Given the description of an element on the screen output the (x, y) to click on. 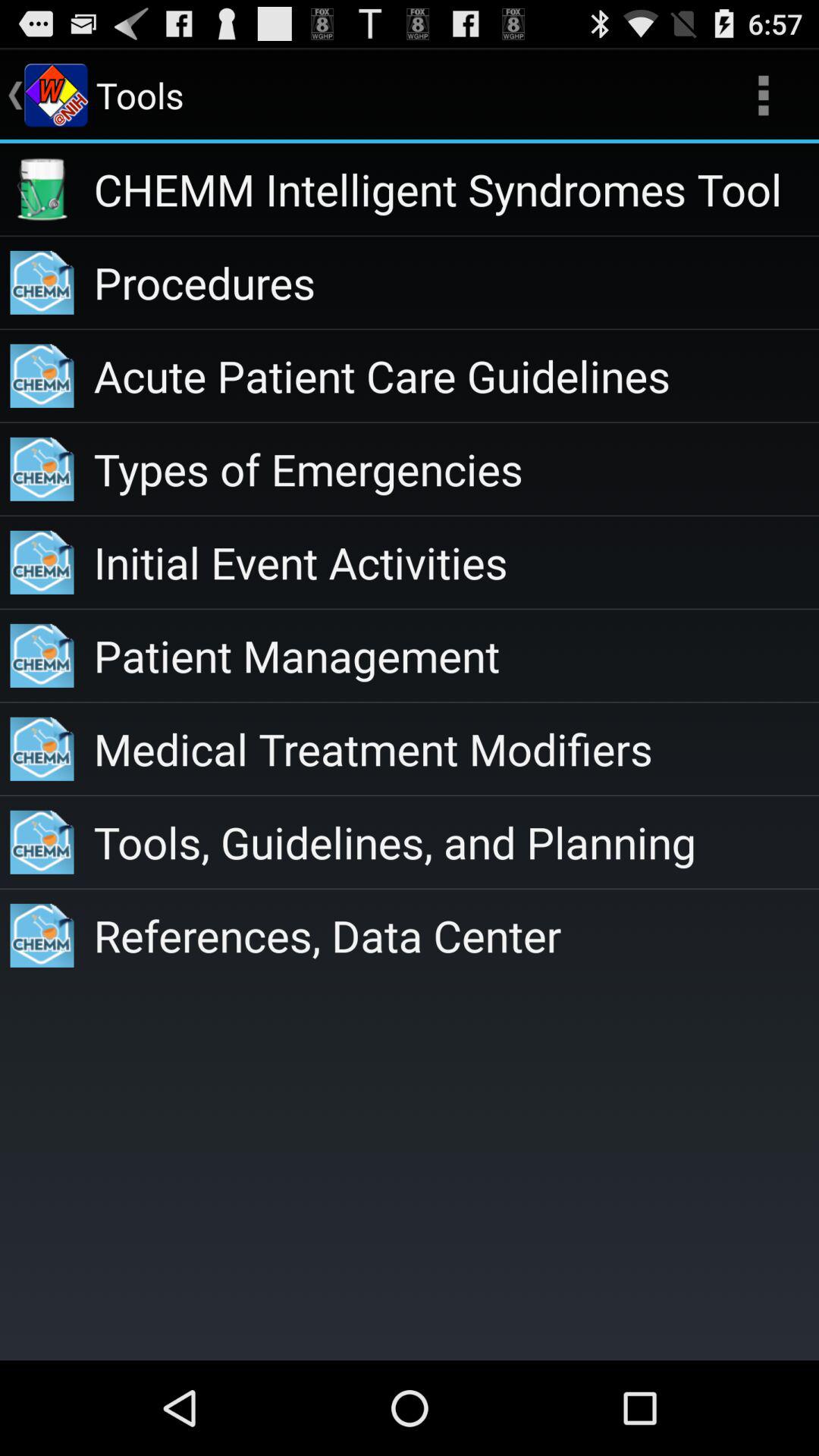
scroll until the types of emergencies icon (456, 469)
